Given the description of an element on the screen output the (x, y) to click on. 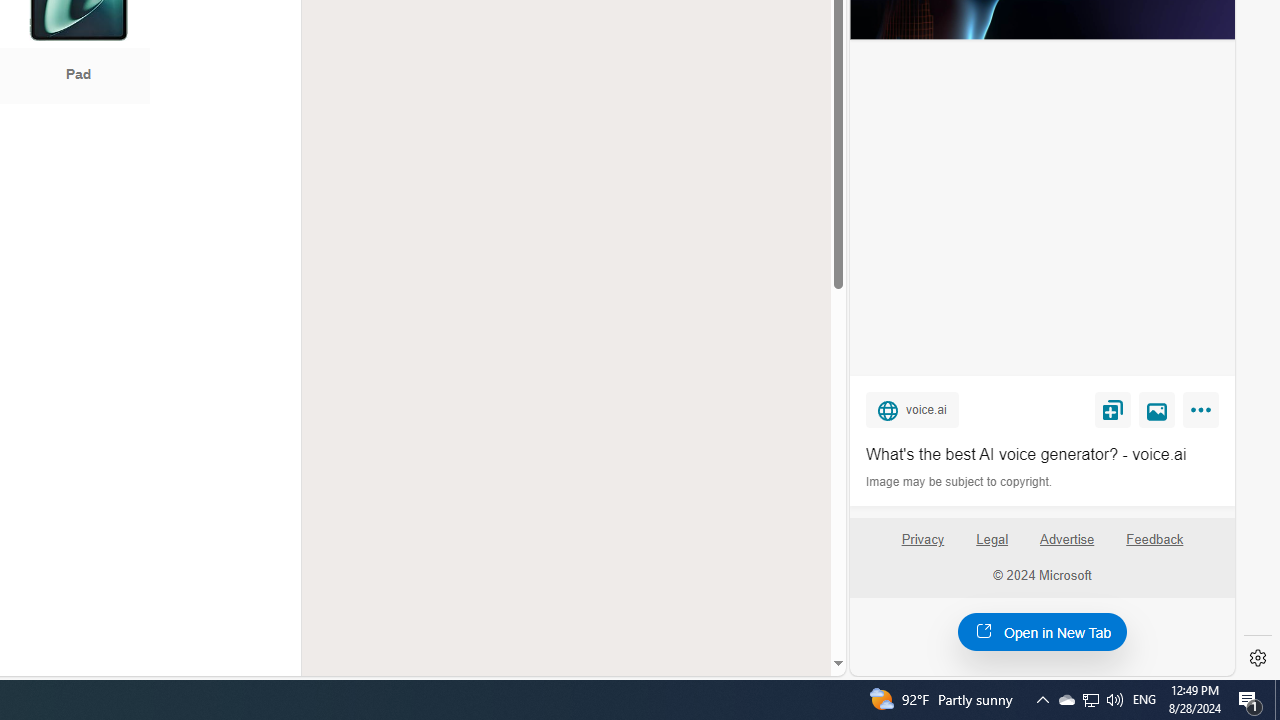
Open in New Tab (1042, 631)
voice.ai (912, 409)
